Given the description of an element on the screen output the (x, y) to click on. 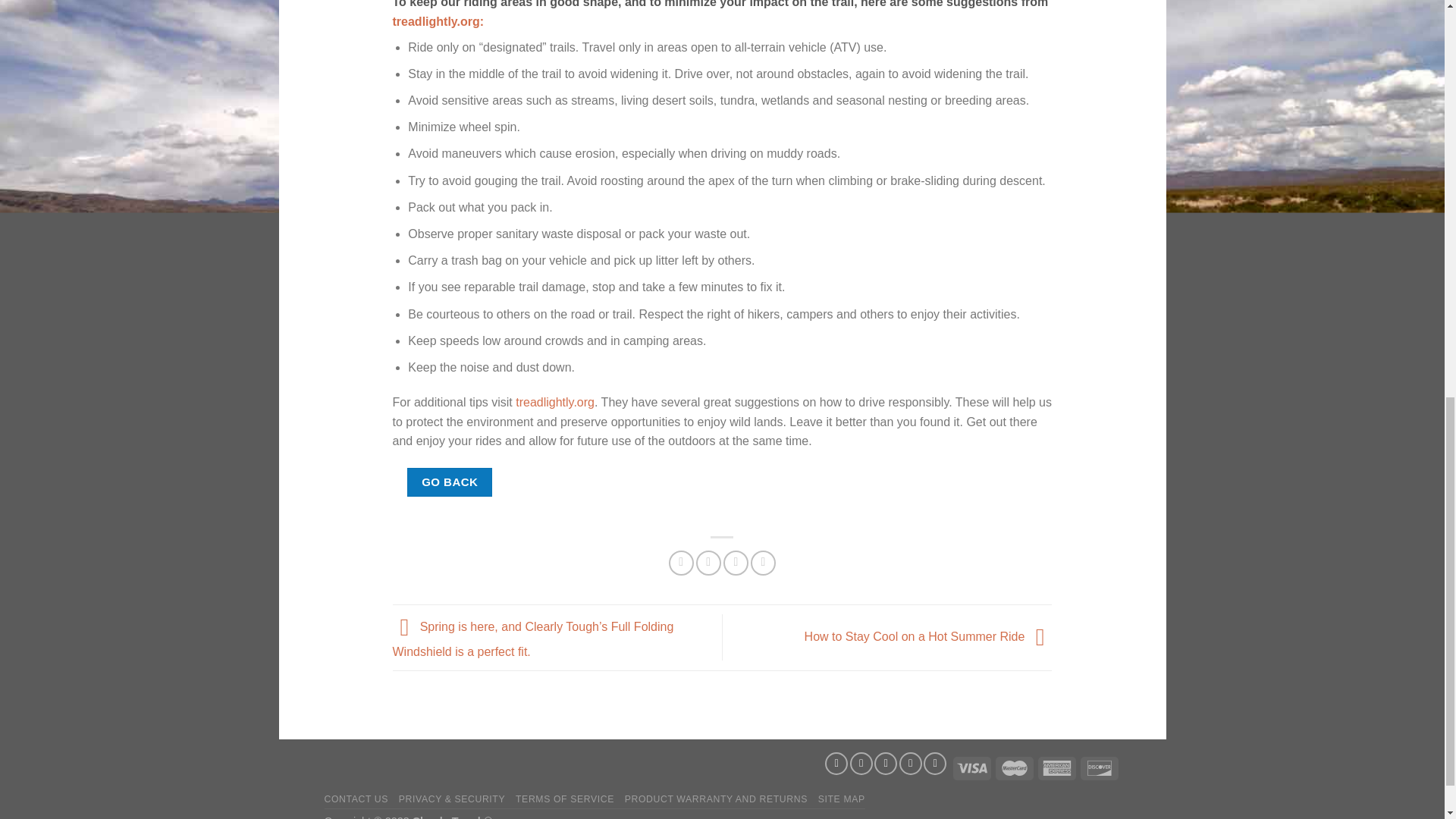
Share on LinkedIn (763, 562)
Share on Facebook (681, 562)
Share on Twitter (707, 562)
Follow on Facebook (836, 763)
Follow on Instagram (861, 763)
Email to a Friend (735, 562)
